Given the description of an element on the screen output the (x, y) to click on. 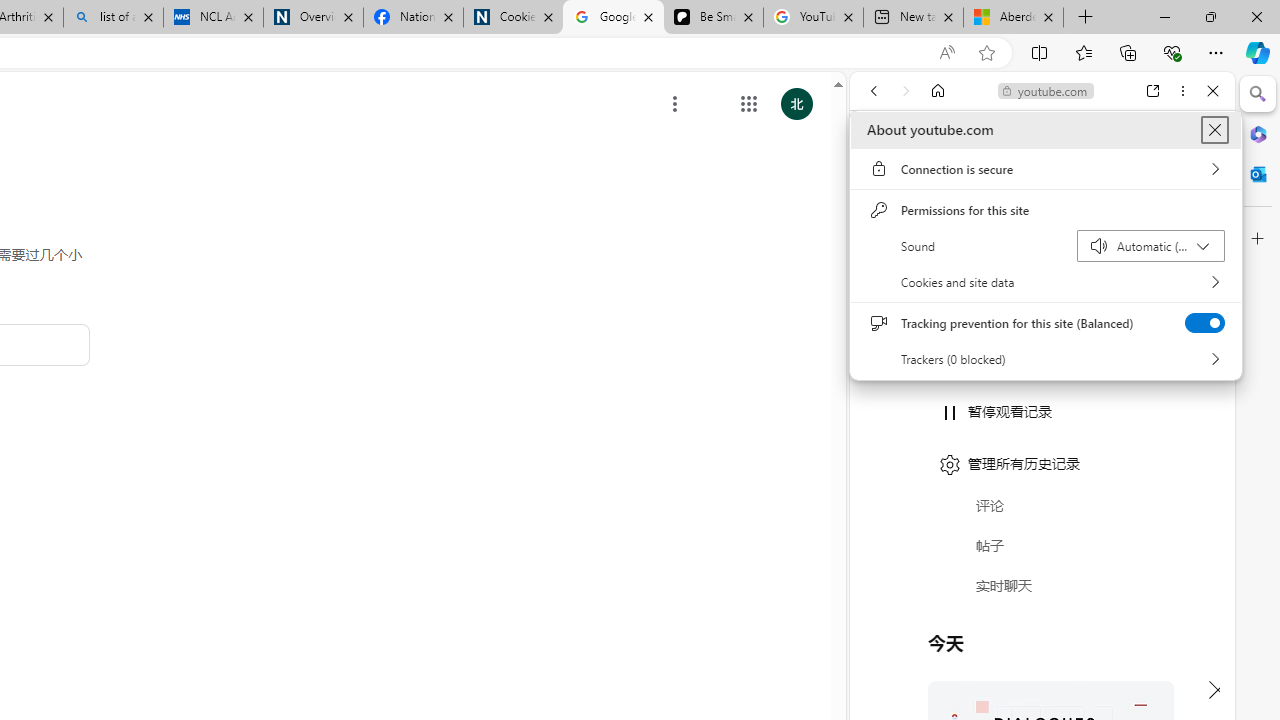
Music (1042, 543)
Search videos from youtube.com (1005, 657)
Google (1042, 494)
About youtube.com (1214, 129)
Trailer #2 [HD] (1042, 592)
Google (1042, 494)
Cookies (513, 17)
Permissions for this site (1046, 210)
